Given the description of an element on the screen output the (x, y) to click on. 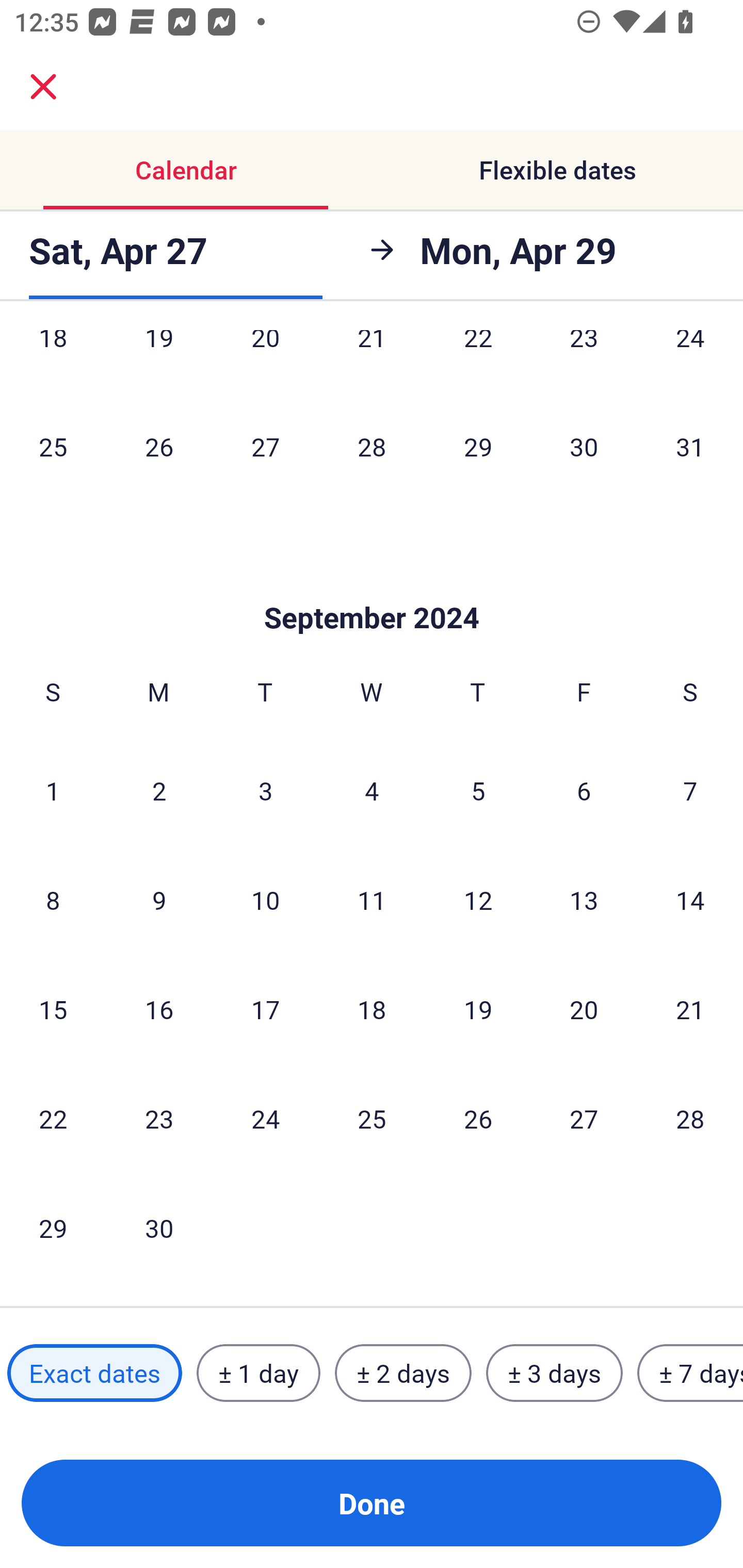
close. (43, 86)
Flexible dates (557, 170)
18 Sunday, August 18, 2024 (53, 360)
19 Monday, August 19, 2024 (159, 360)
20 Tuesday, August 20, 2024 (265, 360)
21 Wednesday, August 21, 2024 (371, 360)
22 Thursday, August 22, 2024 (477, 360)
23 Friday, August 23, 2024 (584, 360)
24 Saturday, August 24, 2024 (690, 360)
25 Sunday, August 25, 2024 (53, 445)
26 Monday, August 26, 2024 (159, 445)
27 Tuesday, August 27, 2024 (265, 445)
28 Wednesday, August 28, 2024 (371, 445)
29 Thursday, August 29, 2024 (477, 445)
30 Friday, August 30, 2024 (584, 445)
31 Saturday, August 31, 2024 (690, 445)
Skip to Done (371, 587)
1 Sunday, September 1, 2024 (53, 789)
2 Monday, September 2, 2024 (159, 789)
3 Tuesday, September 3, 2024 (265, 789)
4 Wednesday, September 4, 2024 (371, 789)
5 Thursday, September 5, 2024 (477, 789)
6 Friday, September 6, 2024 (584, 789)
7 Saturday, September 7, 2024 (690, 789)
8 Sunday, September 8, 2024 (53, 899)
9 Monday, September 9, 2024 (159, 899)
10 Tuesday, September 10, 2024 (265, 899)
11 Wednesday, September 11, 2024 (371, 899)
12 Thursday, September 12, 2024 (477, 899)
13 Friday, September 13, 2024 (584, 899)
14 Saturday, September 14, 2024 (690, 899)
15 Sunday, September 15, 2024 (53, 1008)
16 Monday, September 16, 2024 (159, 1008)
17 Tuesday, September 17, 2024 (265, 1008)
18 Wednesday, September 18, 2024 (371, 1008)
19 Thursday, September 19, 2024 (477, 1008)
20 Friday, September 20, 2024 (584, 1008)
21 Saturday, September 21, 2024 (690, 1008)
22 Sunday, September 22, 2024 (53, 1118)
23 Monday, September 23, 2024 (159, 1118)
24 Tuesday, September 24, 2024 (265, 1118)
25 Wednesday, September 25, 2024 (371, 1118)
26 Thursday, September 26, 2024 (477, 1118)
27 Friday, September 27, 2024 (584, 1118)
28 Saturday, September 28, 2024 (690, 1118)
29 Sunday, September 29, 2024 (53, 1227)
30 Monday, September 30, 2024 (159, 1227)
Exact dates (94, 1372)
± 1 day (258, 1372)
± 2 days (403, 1372)
